Given the description of an element on the screen output the (x, y) to click on. 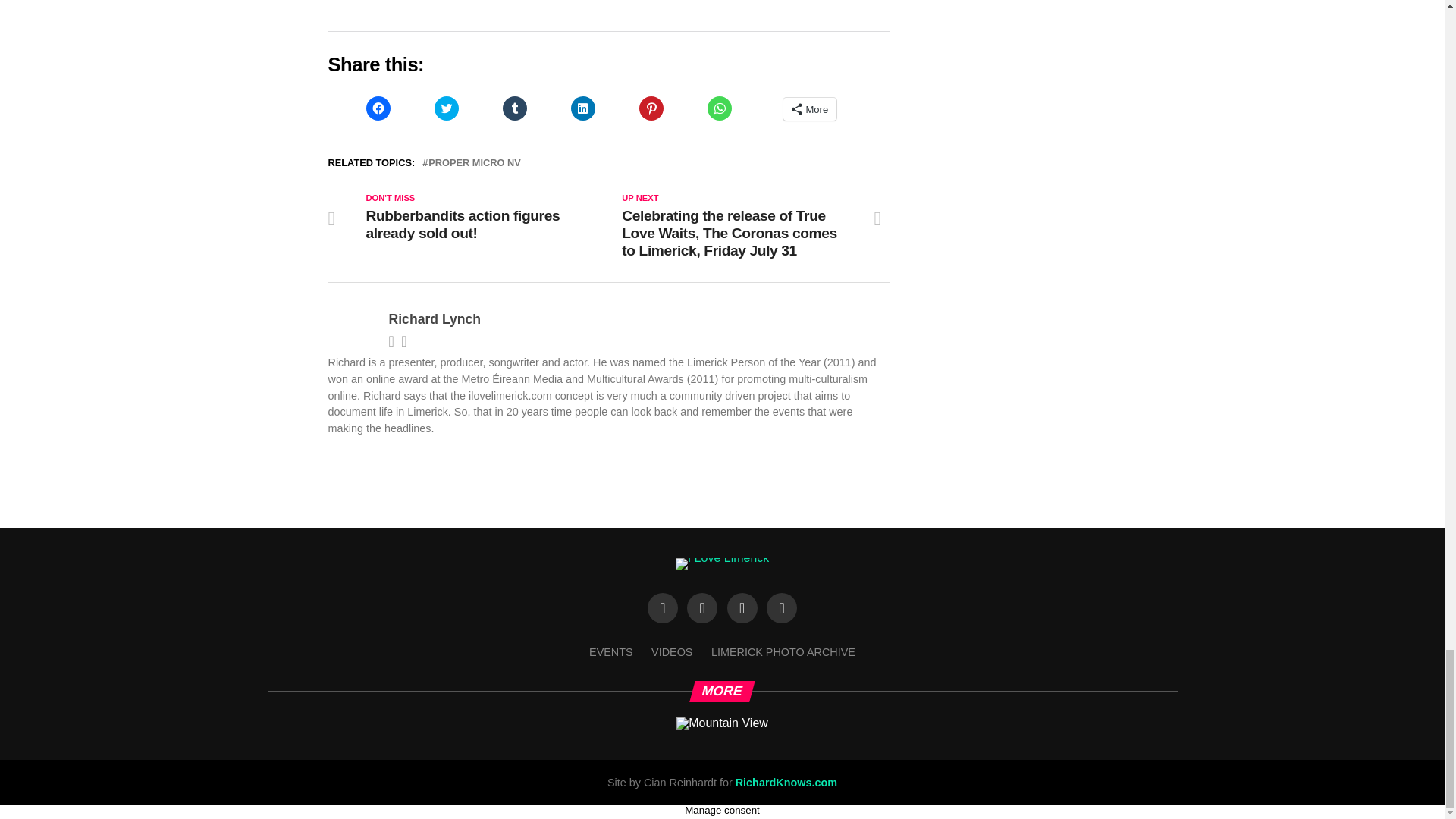
Click to share on Twitter (445, 108)
Click to share on Pinterest (650, 108)
Posts by Richard Lynch (434, 319)
Click to share on LinkedIn (582, 108)
Click to share on Facebook (377, 108)
Click to share on WhatsApp (718, 108)
Click to share on Tumblr (513, 108)
